Given the description of an element on the screen output the (x, y) to click on. 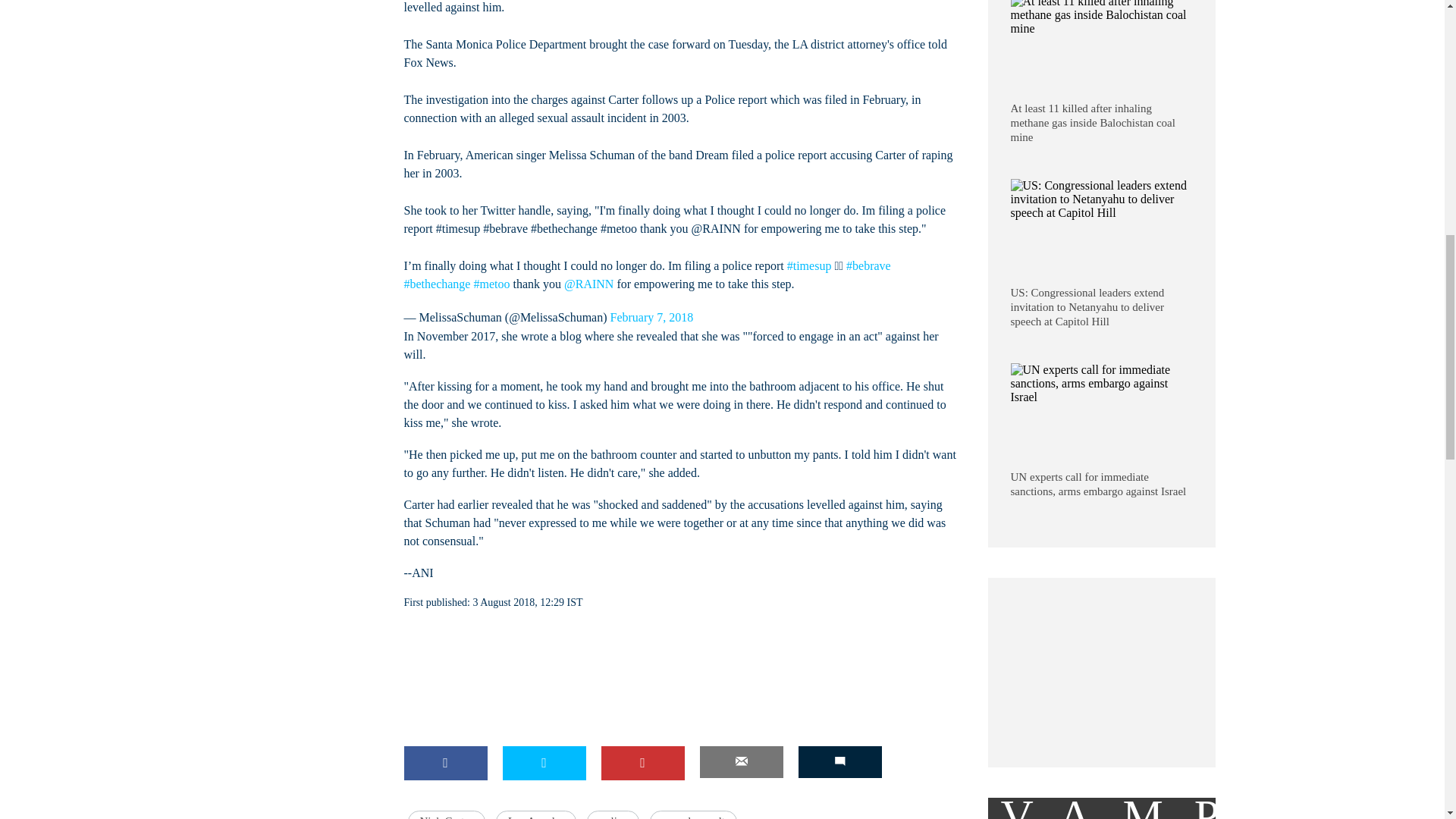
Nick Carter (445, 814)
police (612, 814)
sexual assault (692, 814)
Los Angeles (536, 814)
